Given the description of an element on the screen output the (x, y) to click on. 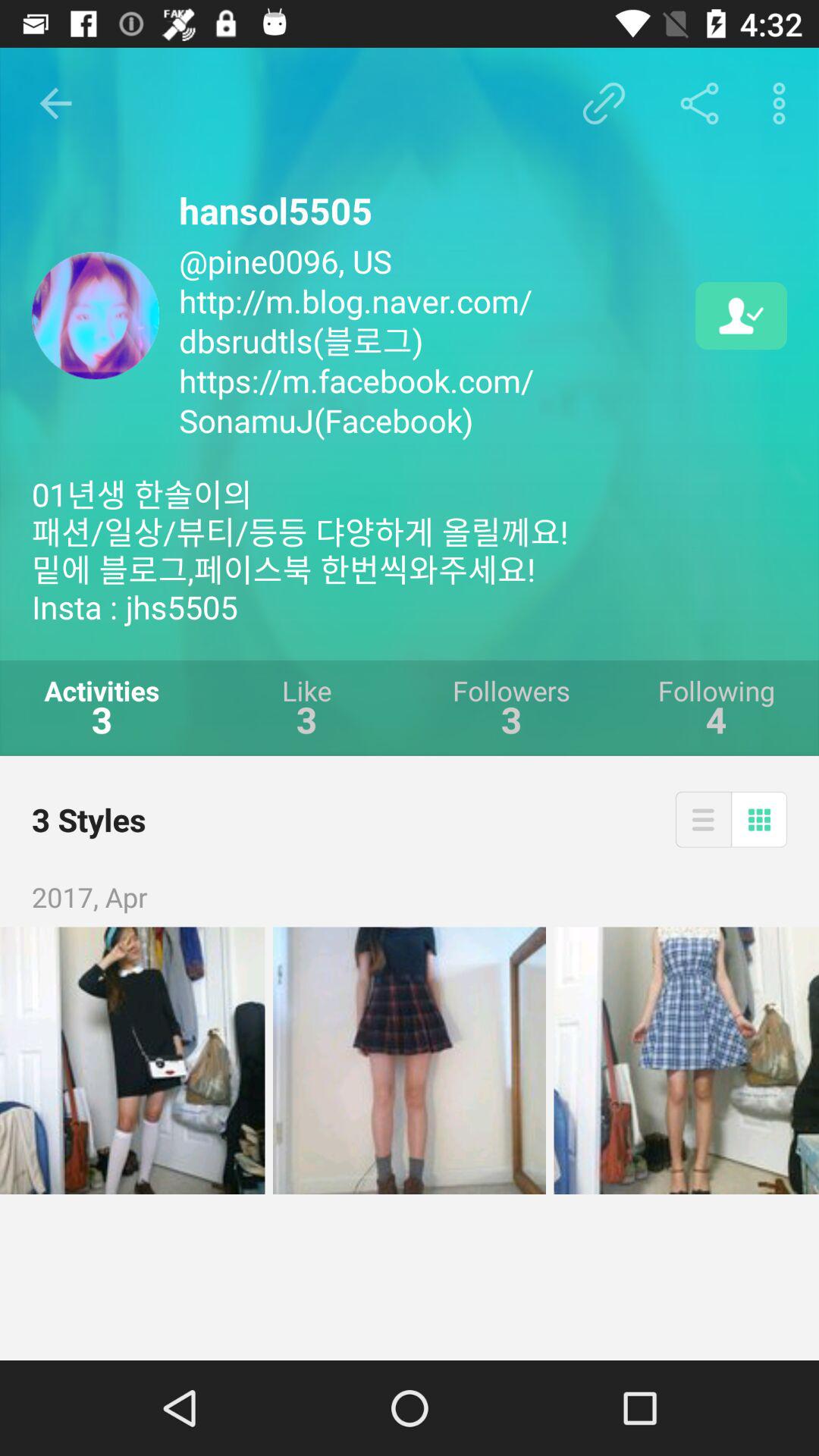
view style picture (132, 1060)
